Given the description of an element on the screen output the (x, y) to click on. 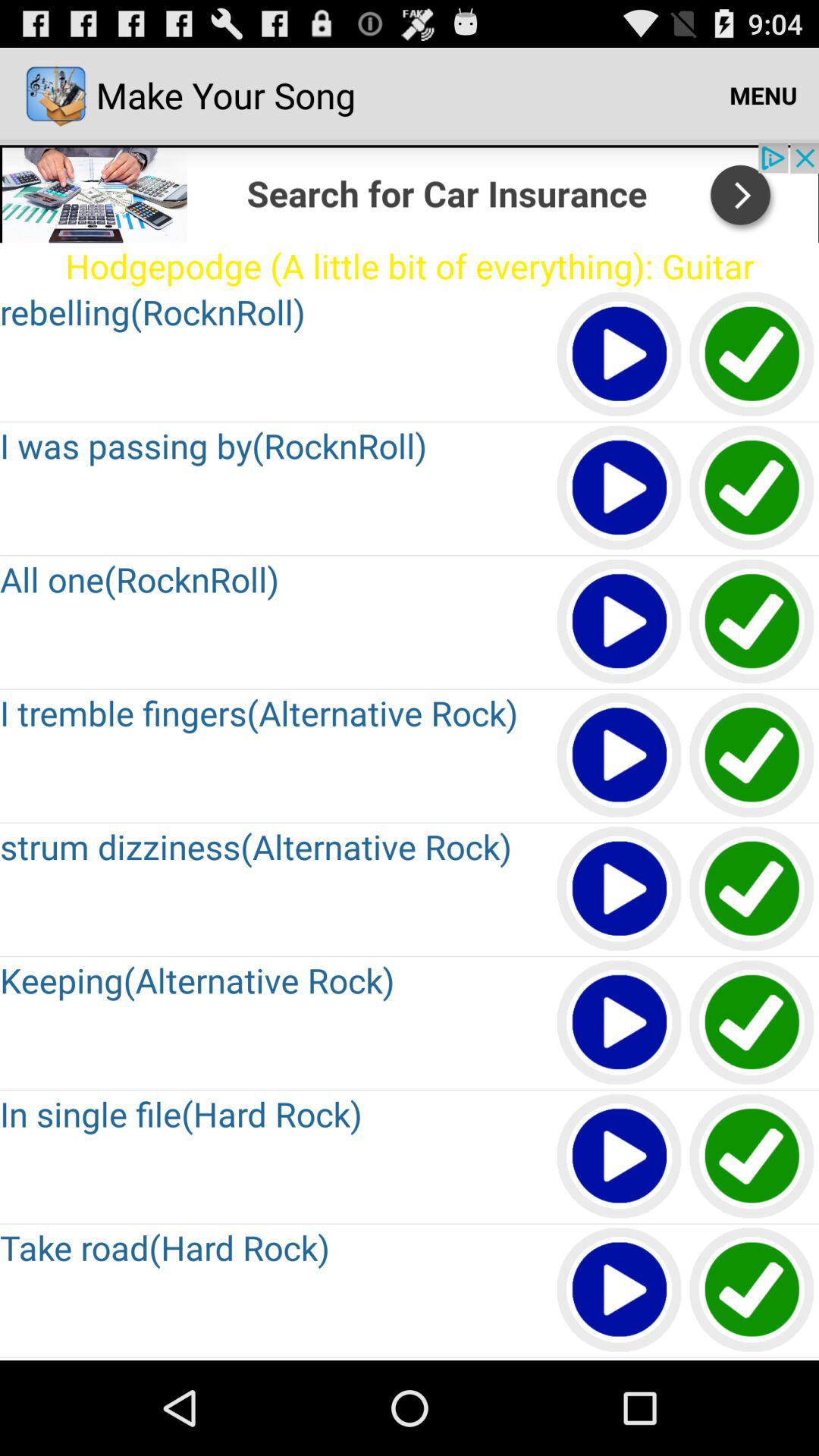
play button (619, 1290)
